Given the description of an element on the screen output the (x, y) to click on. 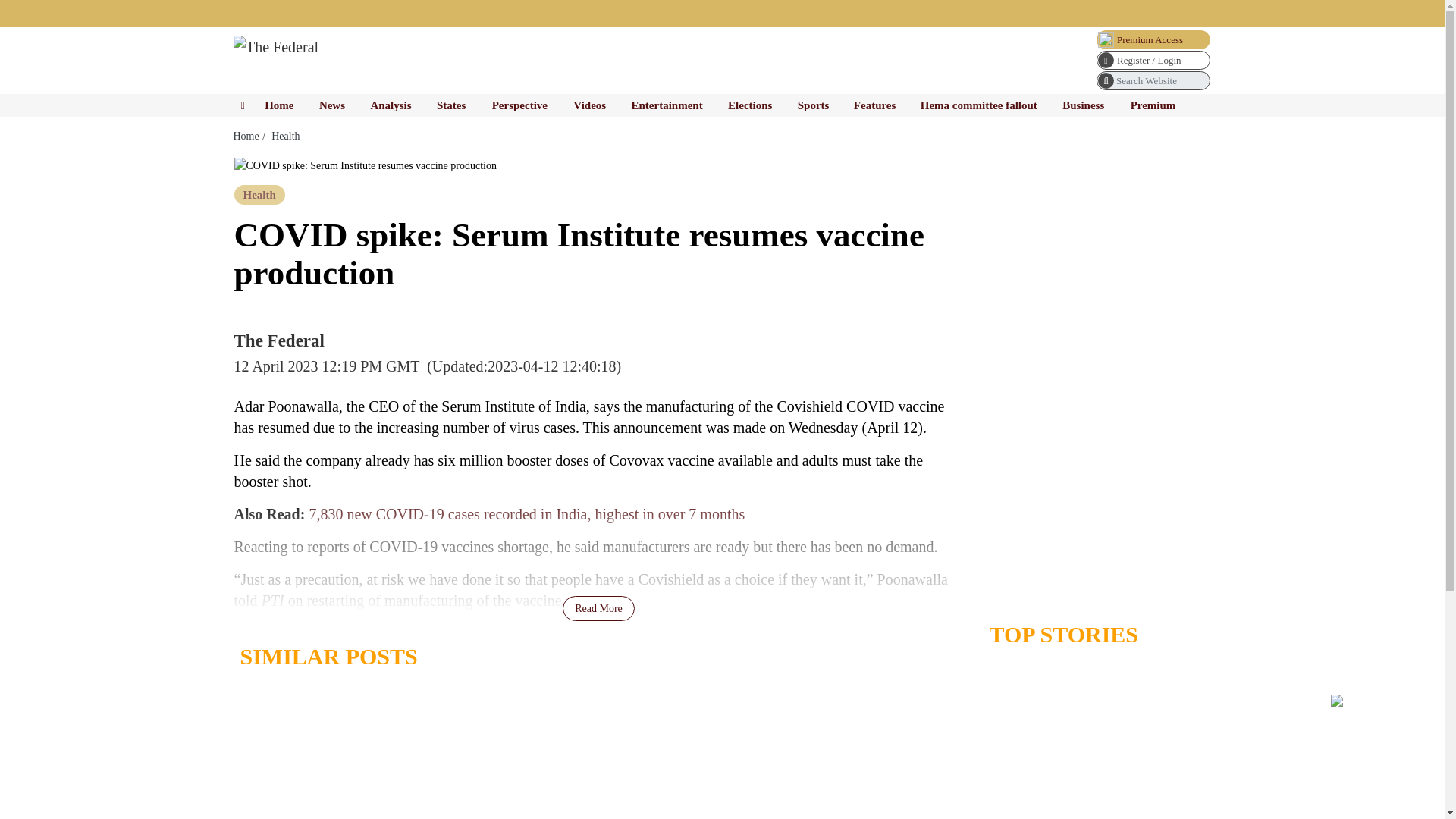
COVID spike: Serum Institute resumes vaccine production (364, 165)
The Federal (275, 47)
Premium Access (1152, 39)
